Given the description of an element on the screen output the (x, y) to click on. 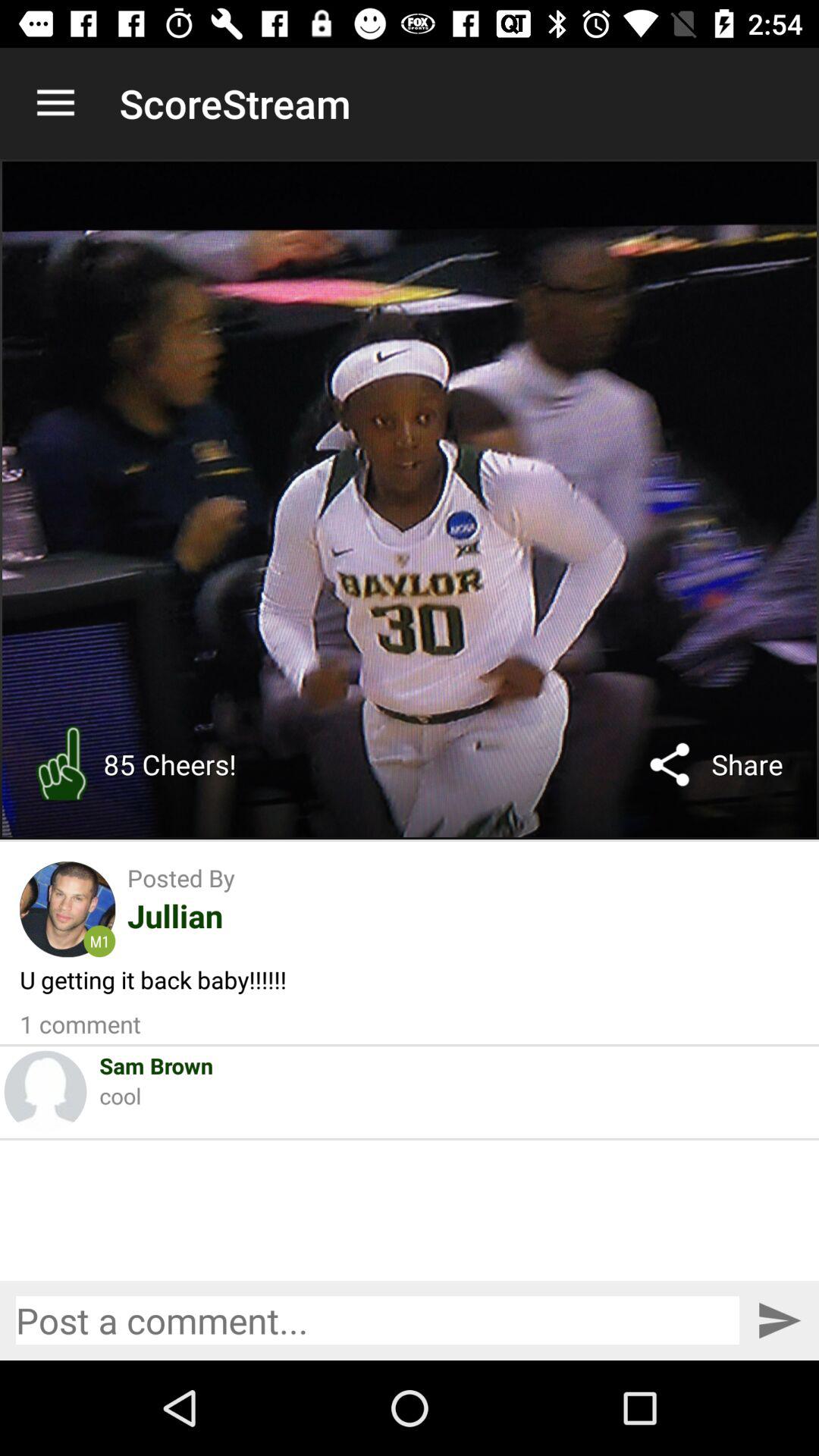
turn on item to the left of sam brown icon (45, 1092)
